Given the description of an element on the screen output the (x, y) to click on. 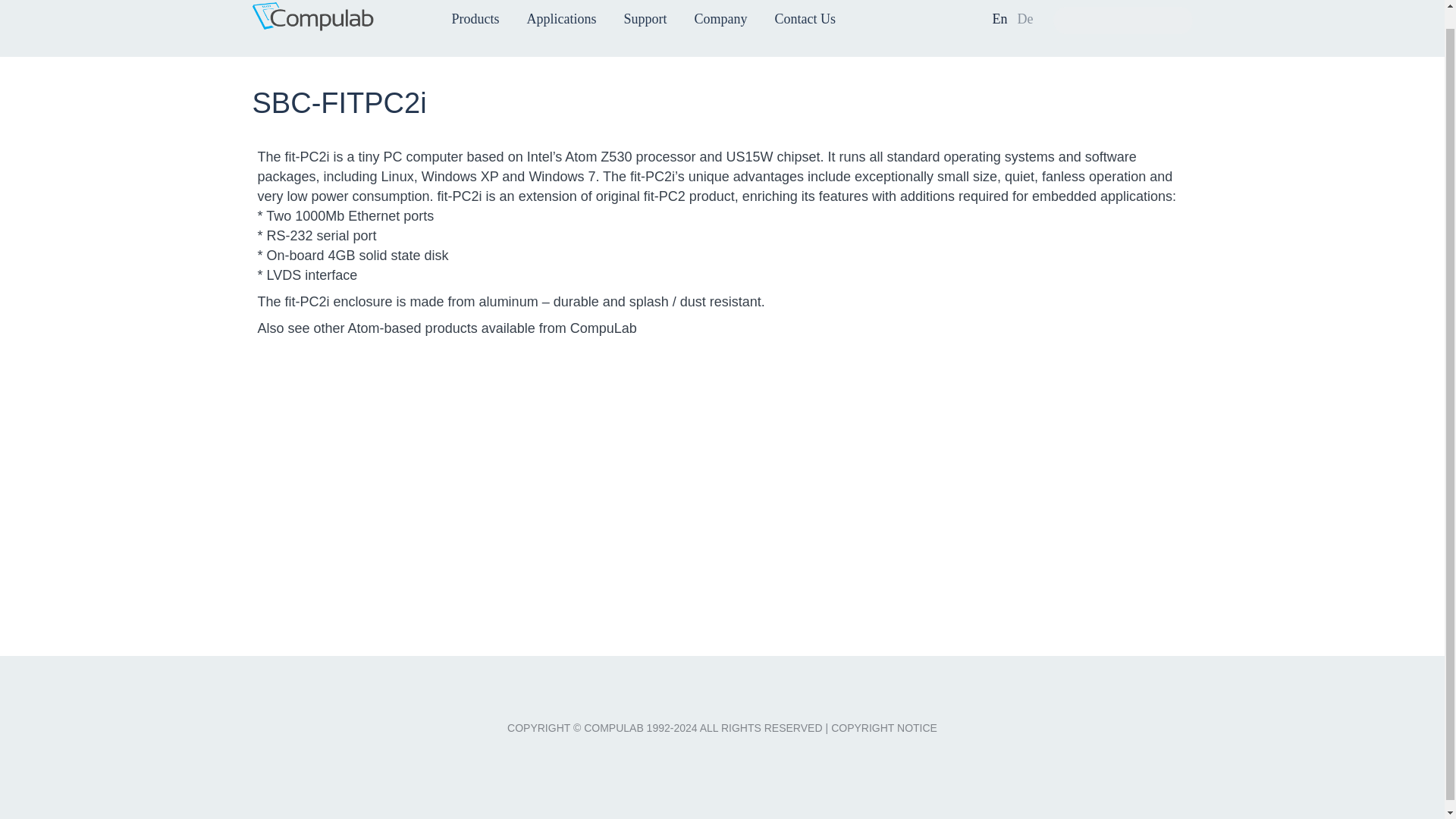
En (999, 18)
COPYRIGHT NOTICE (884, 727)
De (1025, 18)
Support (644, 18)
Company (721, 18)
Applications (560, 18)
Contact Us (804, 18)
CompuLab (335, 24)
Products (475, 18)
